Given the description of an element on the screen output the (x, y) to click on. 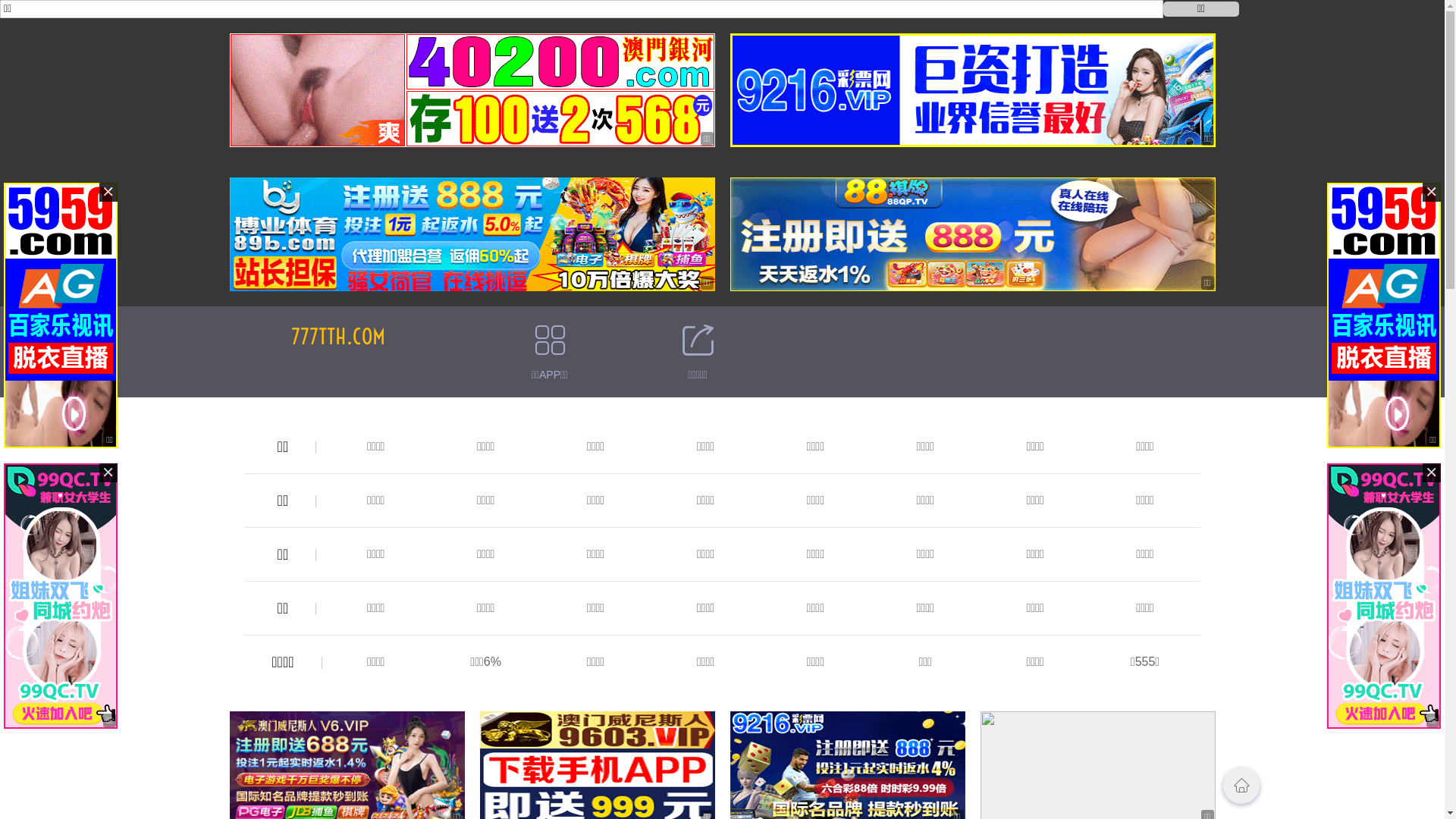
777TTH.COM Element type: text (338, 336)
